Given the description of an element on the screen output the (x, y) to click on. 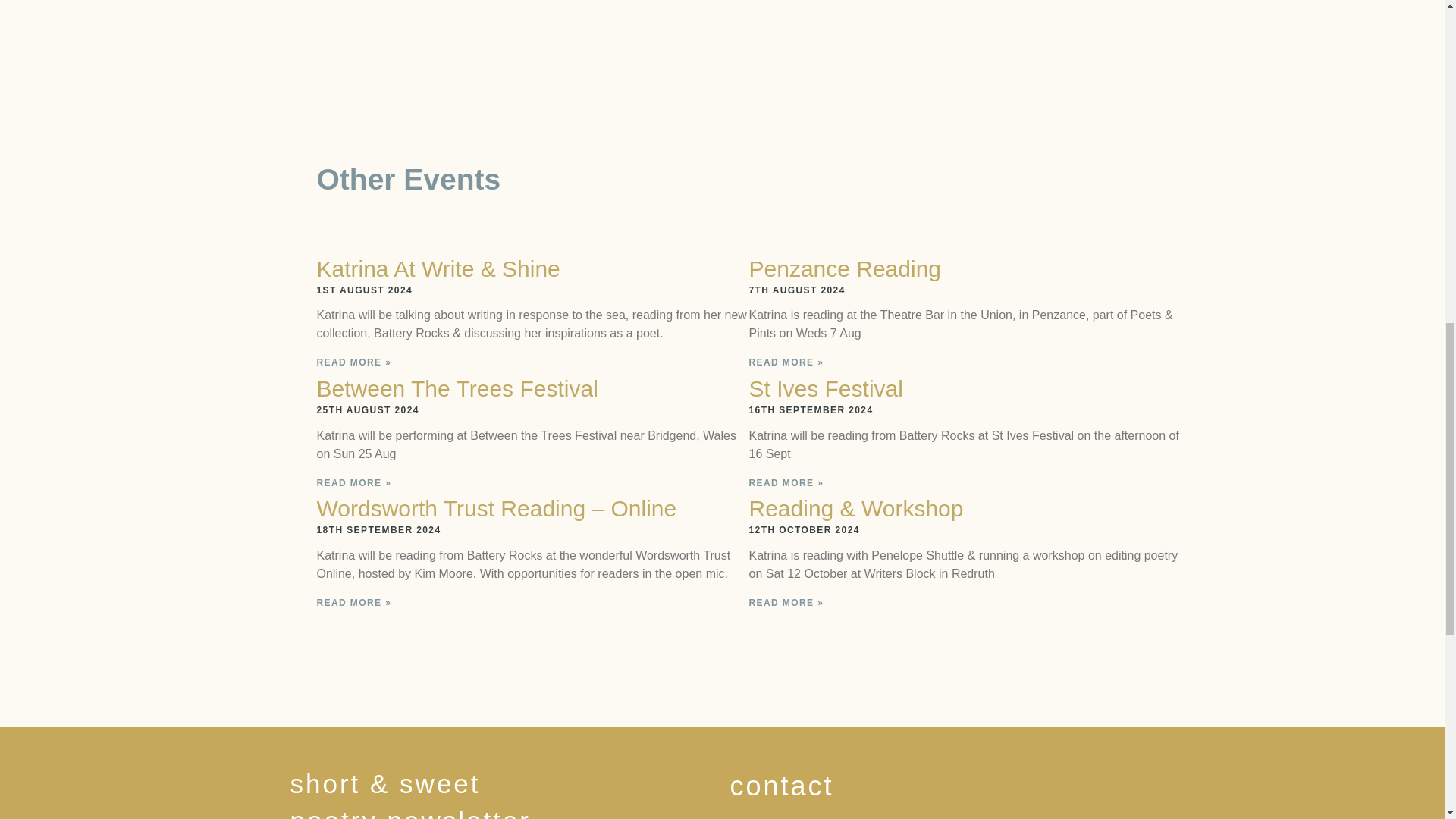
Penzance Reading (845, 268)
Between The Trees Festival (457, 388)
St Ives Festival (825, 388)
